Given the description of an element on the screen output the (x, y) to click on. 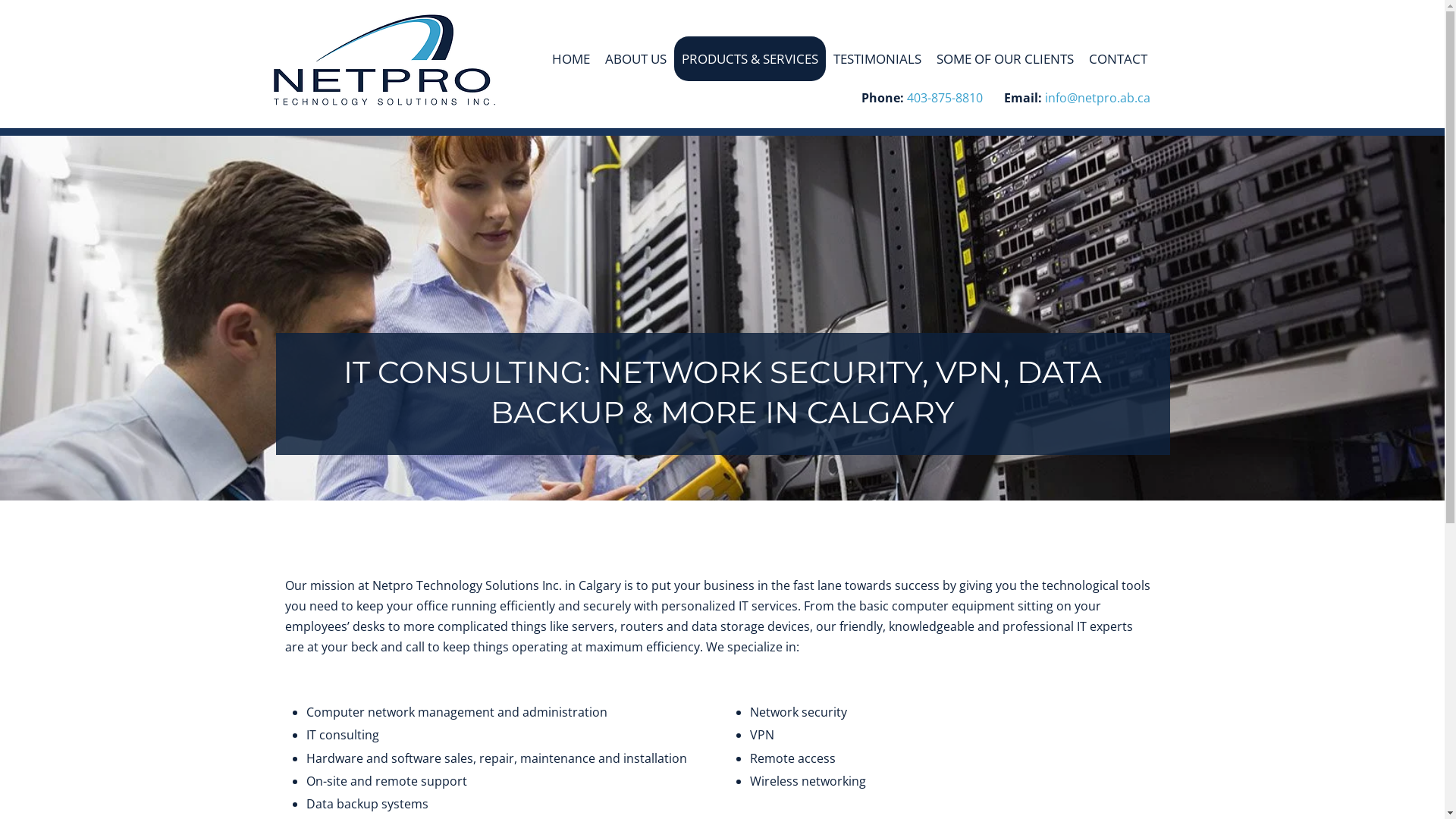
403-875-8810 Element type: text (944, 99)
HOME Element type: text (570, 58)
CONTACT Element type: text (1117, 58)
TESTIMONIALS Element type: text (876, 58)
info@netpro.ab.ca Element type: text (1097, 99)
PRODUCTS & SERVICES Element type: text (749, 58)
ABOUT US Element type: text (635, 58)
SOME OF OUR CLIENTS Element type: text (1004, 58)
